Given the description of an element on the screen output the (x, y) to click on. 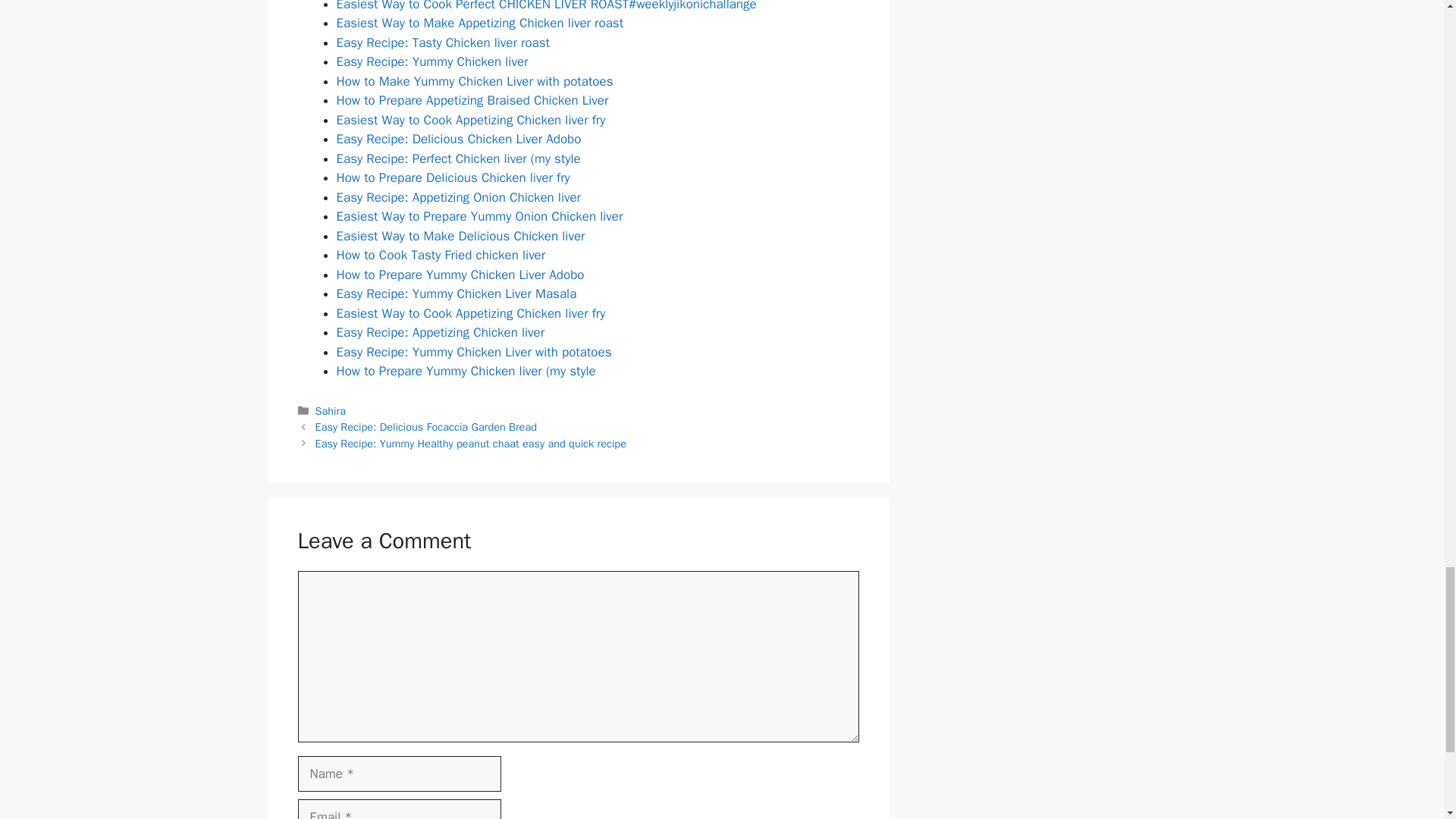
Easiest Way to Cook Appetizing Chicken liver fry (470, 119)
Sahira (330, 410)
How to Prepare Yummy Chicken Liver Adobo (460, 274)
How to Prepare Appetizing Braised Chicken Liver (472, 100)
Easiest Way to Make Appetizing Chicken liver roast (480, 23)
Easiest Way to Make Delicious Chicken liver (460, 236)
Easy Recipe: Yummy Chicken Liver with potatoes (473, 351)
How to Make Yummy Chicken Liver with potatoes (474, 81)
How to Cook Tasty Fried chicken liver (441, 254)
Easiest Way to Prepare Yummy Onion Chicken liver (479, 216)
Easiest Way to Cook Appetizing Chicken liver fry (470, 313)
Easy Recipe: Appetizing Chicken liver (440, 332)
Easy Recipe: Appetizing Onion Chicken liver (458, 197)
Easy Recipe: Delicious Chicken Liver Adobo (458, 139)
Easy Recipe: Tasty Chicken liver roast (443, 42)
